Given the description of an element on the screen output the (x, y) to click on. 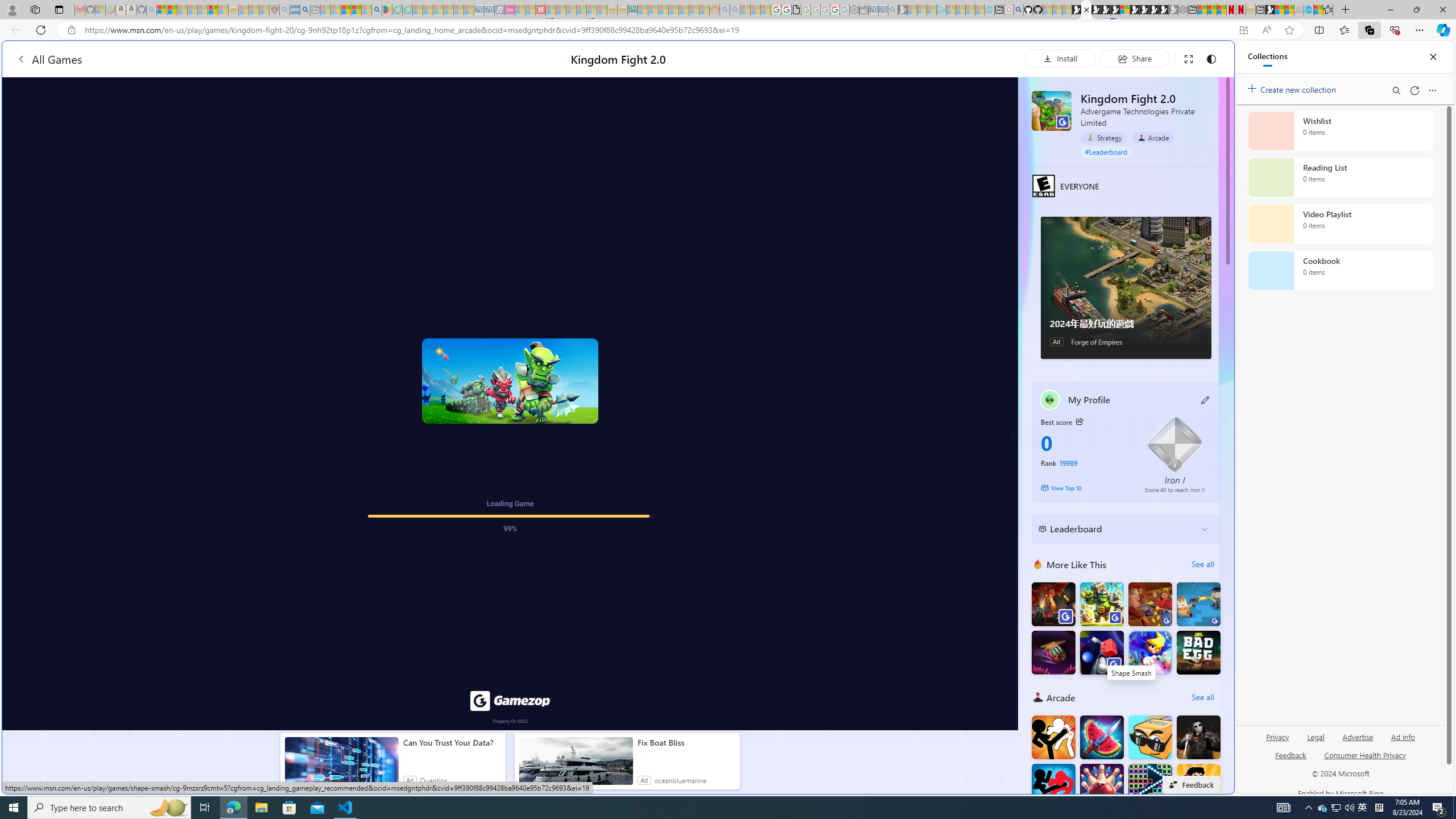
Pets - MSN (356, 9)
More options menu (1432, 90)
Sign in to your account (1124, 9)
oceanbluemarine (679, 779)
Kingdom Fight (1101, 603)
Fix Boat Bliss (686, 742)
Bad Egg (1198, 652)
